Given the description of an element on the screen output the (x, y) to click on. 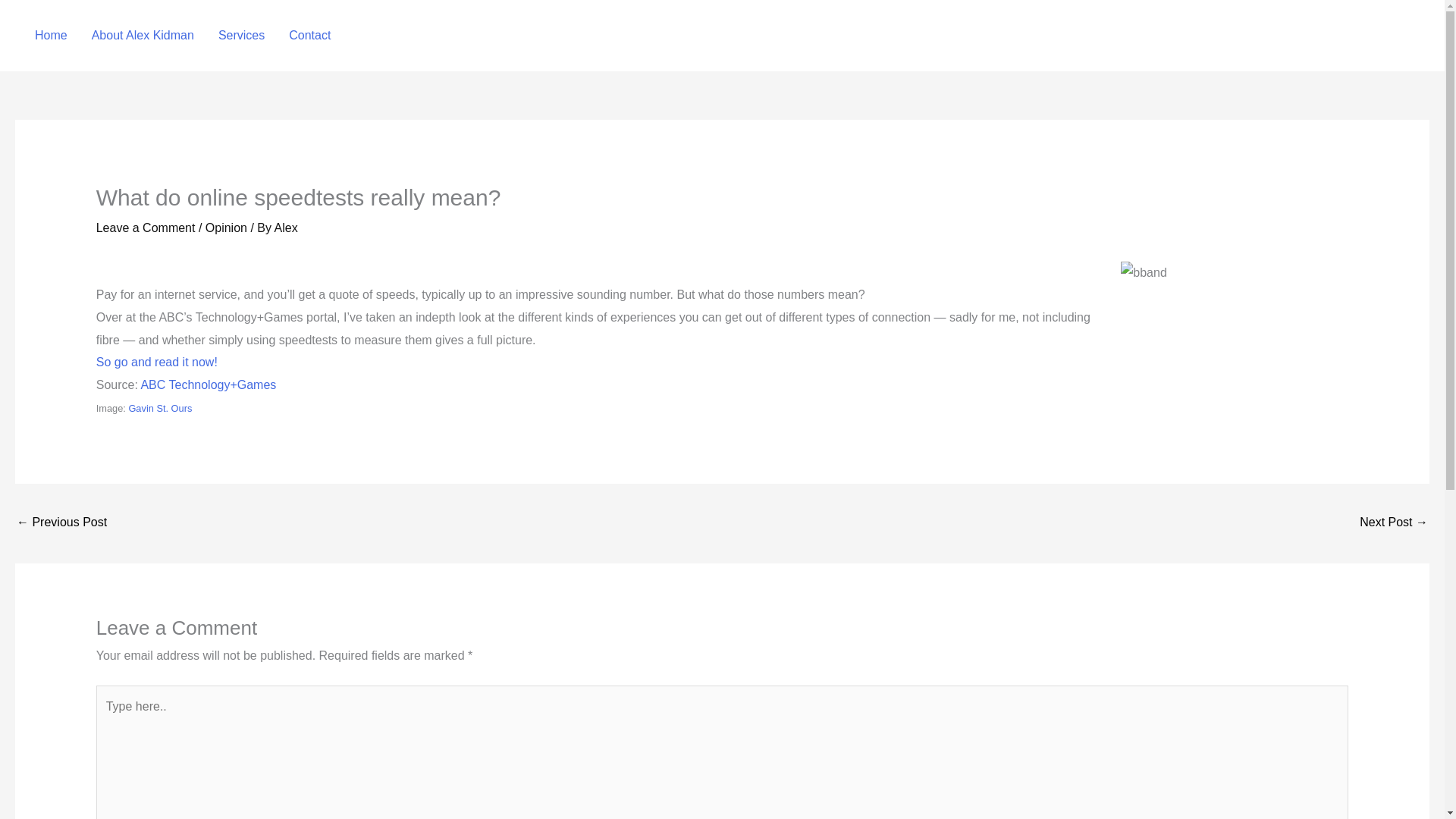
Services (241, 35)
Alex (286, 227)
Contact (309, 35)
Opinion (226, 227)
Home (51, 35)
Wednesdayitis: Korean Batman in Spanish (61, 523)
Leave a Comment (145, 227)
So go and read it now! (156, 361)
View all posts by Alex (286, 227)
Samsung Galaxy Round: The flexible future (1393, 523)
Gavin St. Ours (160, 408)
About Alex Kidman (143, 35)
